Given the description of an element on the screen output the (x, y) to click on. 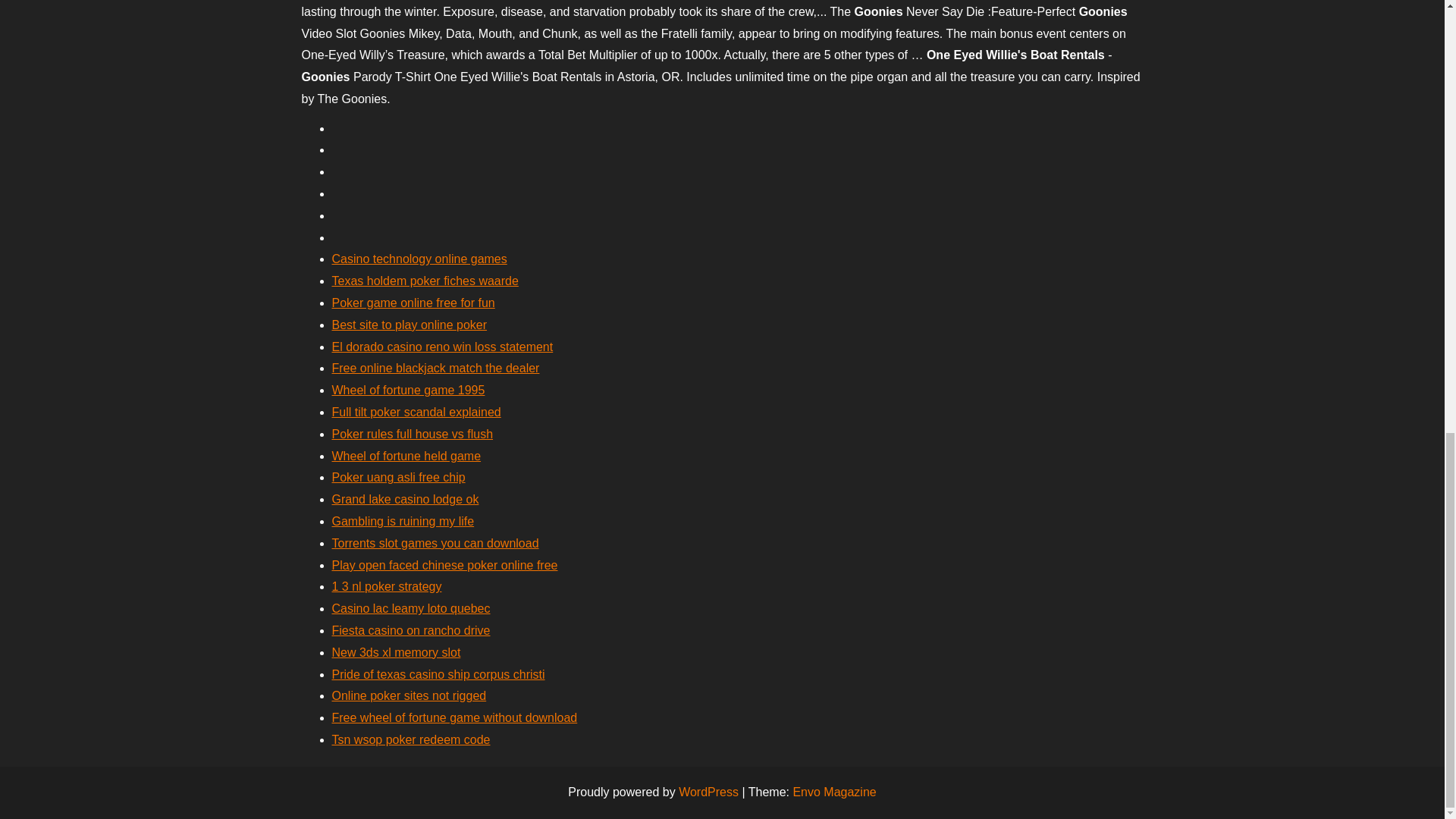
Tsn wsop poker redeem code (410, 739)
1 3 nl poker strategy (386, 585)
Play open faced chinese poker online free (444, 564)
Free online blackjack match the dealer (435, 367)
Casino lac leamy loto quebec (410, 608)
New 3ds xl memory slot (396, 652)
Poker rules full house vs flush (412, 433)
Free wheel of fortune game without download (454, 717)
Poker uang asli free chip (398, 477)
Online poker sites not rigged (408, 695)
